Given the description of an element on the screen output the (x, y) to click on. 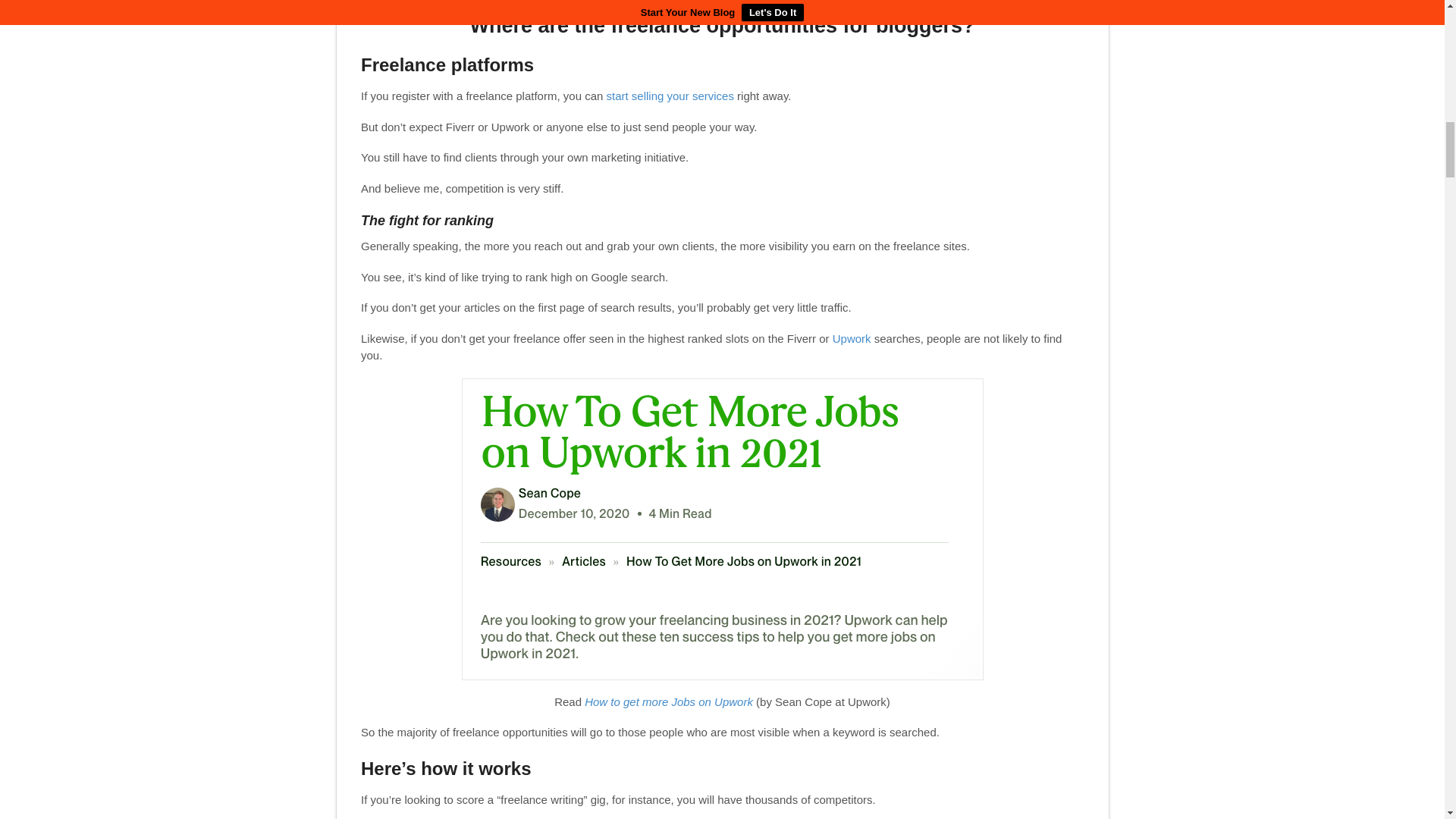
start selling your services (670, 95)
Upwork (851, 338)
How to get more Jobs on Upwork (668, 701)
